Given the description of an element on the screen output the (x, y) to click on. 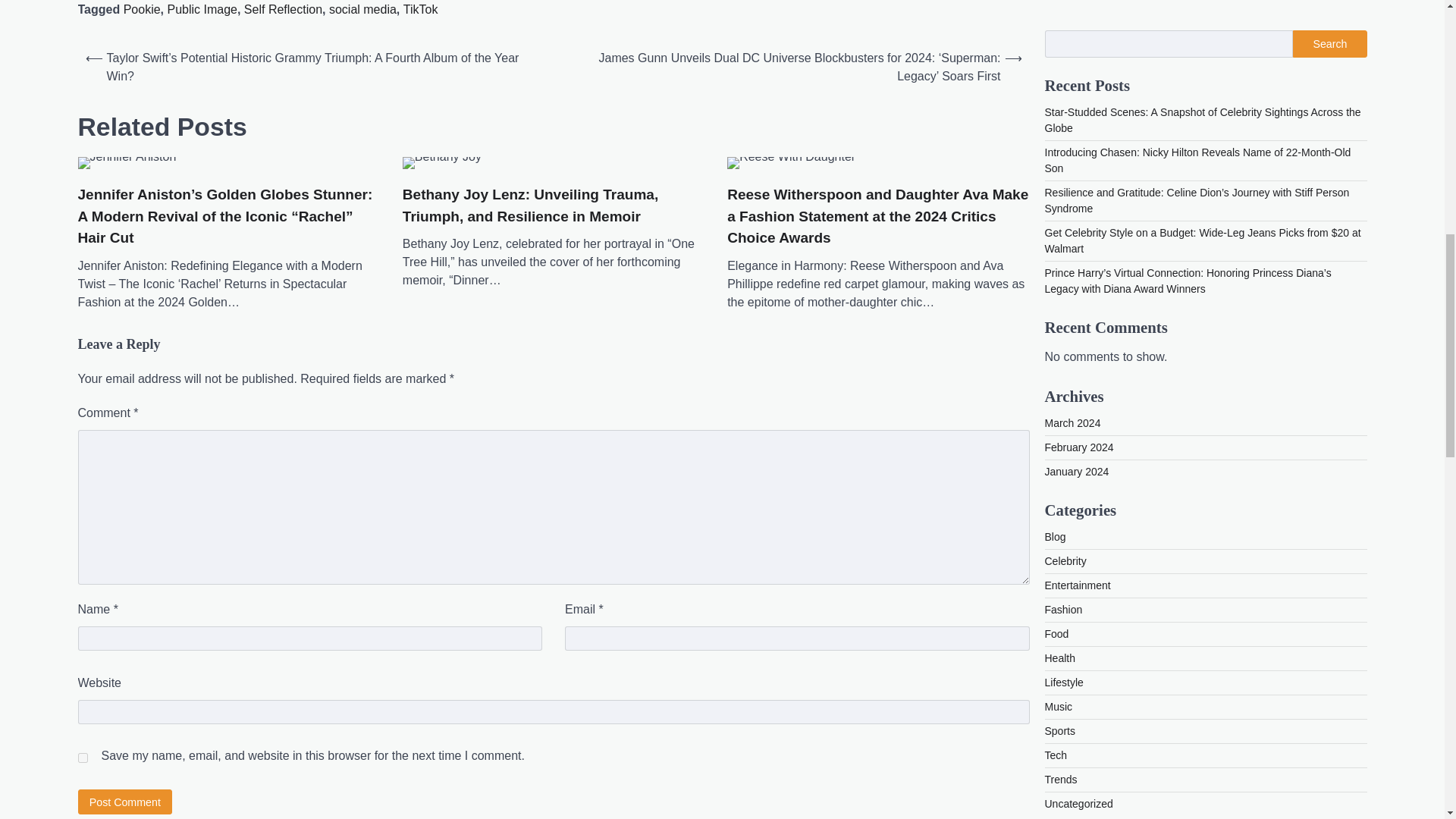
Public Image (202, 9)
yes (82, 757)
Pookie (141, 9)
Post Comment (124, 801)
TikTok (420, 9)
Self Reflection (282, 9)
social media (362, 9)
